Given the description of an element on the screen output the (x, y) to click on. 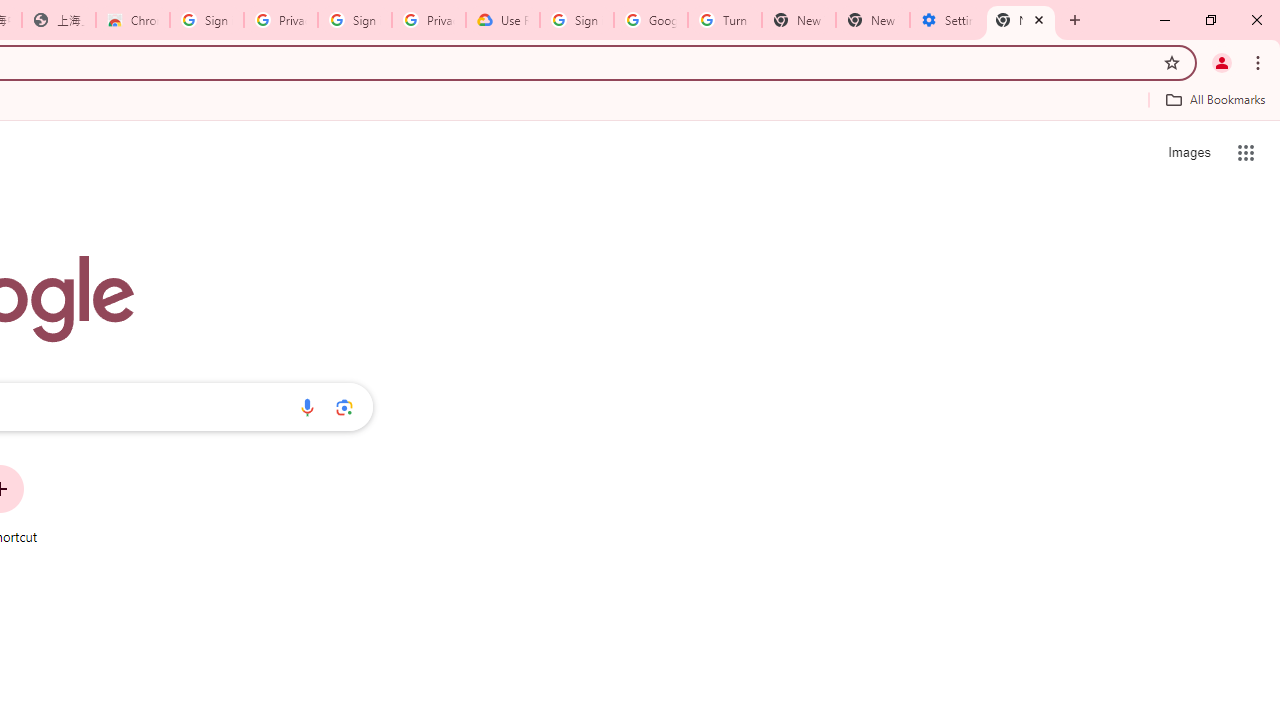
Sign in - Google Accounts (354, 20)
Sign in - Google Accounts (577, 20)
Turn cookies on or off - Computer - Google Account Help (724, 20)
